Given the description of an element on the screen output the (x, y) to click on. 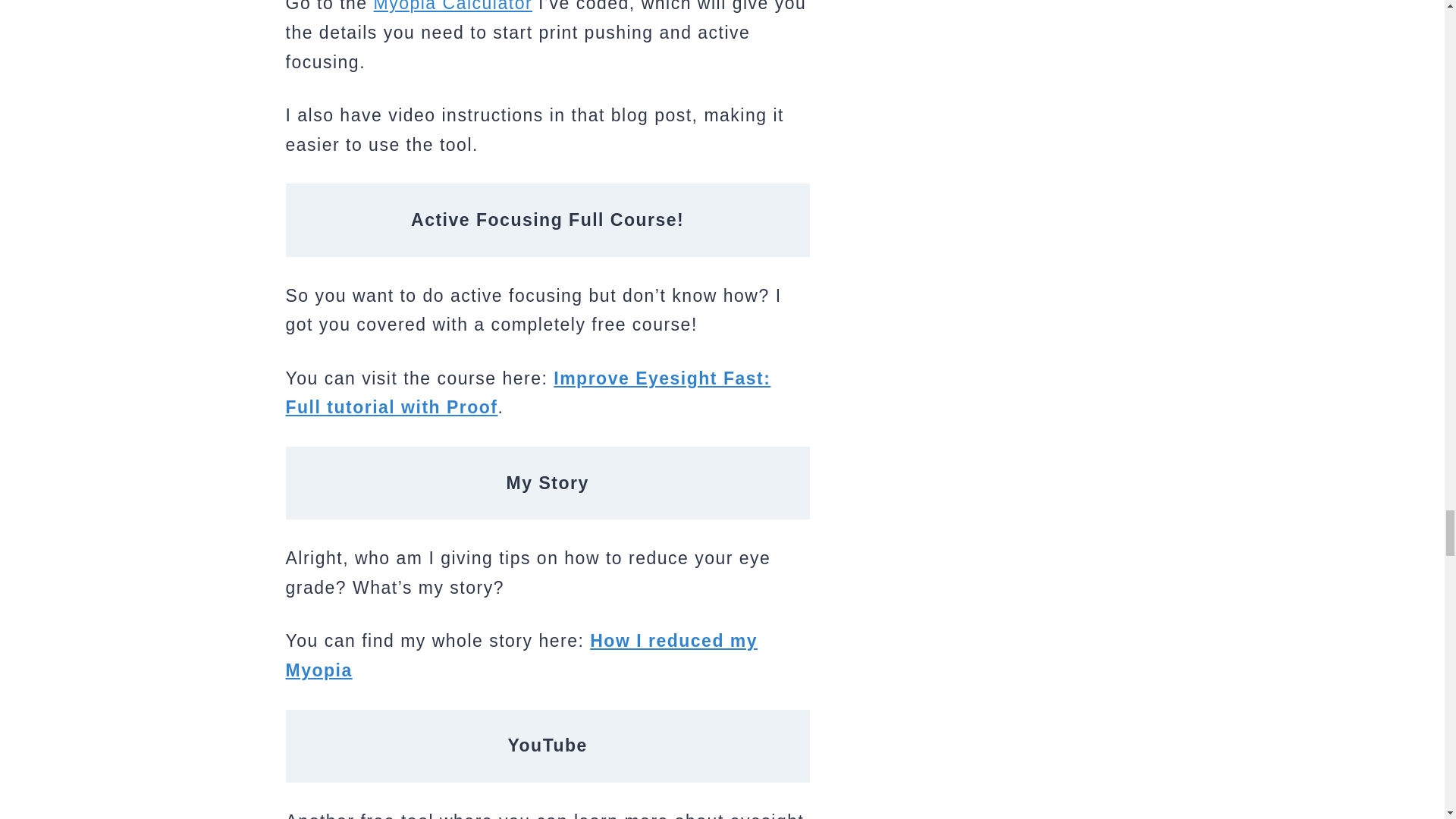
Myopia Calculator (453, 6)
How I reduced my Myopia (521, 655)
Improve Eyesight Fast: Full tutorial with Proof (527, 392)
Improve Eyesight Fast: Complete with Proof (527, 392)
Myopia Calculator (453, 6)
